Given the description of an element on the screen output the (x, y) to click on. 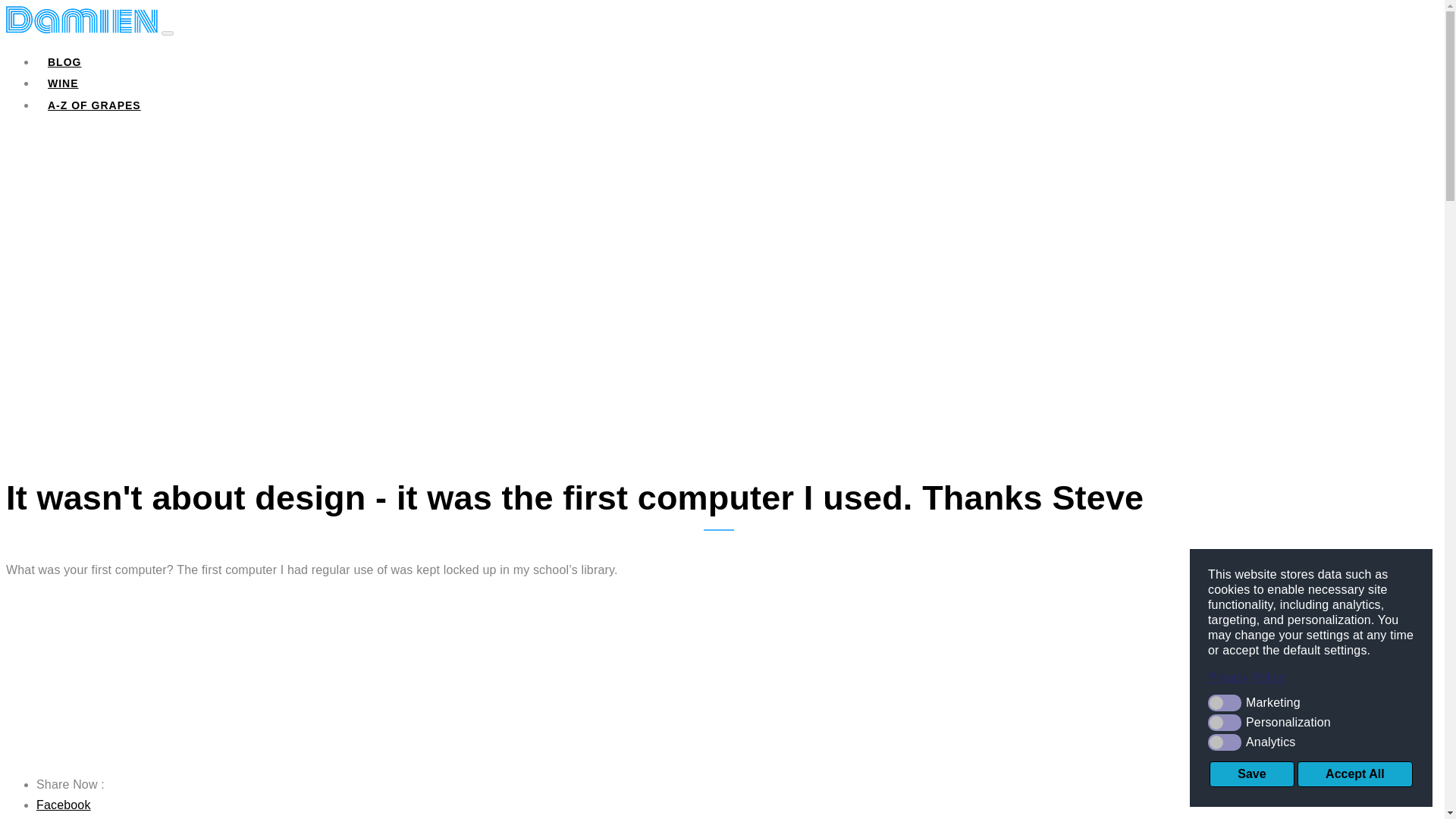
Analytics (1310, 742)
Accept All (1354, 774)
Marketing (1310, 702)
Save (1251, 774)
Facebook (63, 804)
Privacy Policy (1310, 677)
BLOG (64, 61)
A-Z OF GRAPES (94, 105)
WINE (63, 83)
Personalization (1310, 722)
